Given the description of an element on the screen output the (x, y) to click on. 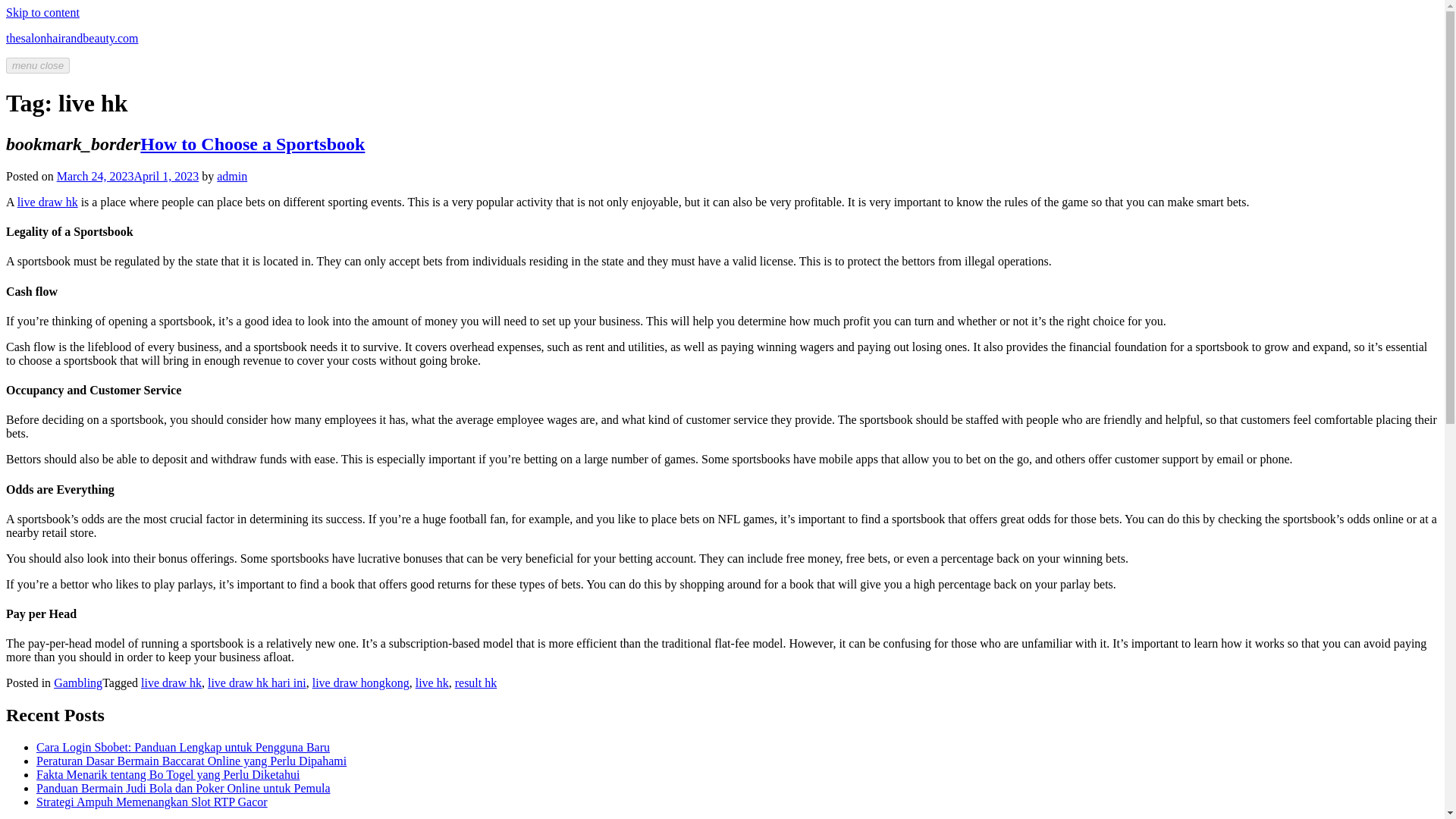
live draw hk (47, 201)
Fakta Menarik tentang Bo Togel yang Perlu Diketahui (167, 774)
live draw hk (171, 682)
admin (231, 175)
Peraturan Dasar Bermain Baccarat Online yang Perlu Dipahami (191, 760)
live hk (431, 682)
menu close (37, 65)
March 24, 2023April 1, 2023 (127, 175)
live draw hk hari ini (256, 682)
Panduan Bermain Judi Bola dan Poker Online untuk Pemula (183, 788)
Gambling (77, 682)
thesalonhairandbeauty.com (71, 38)
Strategi Ampuh Memenangkan Slot RTP Gacor (151, 801)
How to Choose a Sportsbook (252, 143)
Skip to content (42, 11)
